Given the description of an element on the screen output the (x, y) to click on. 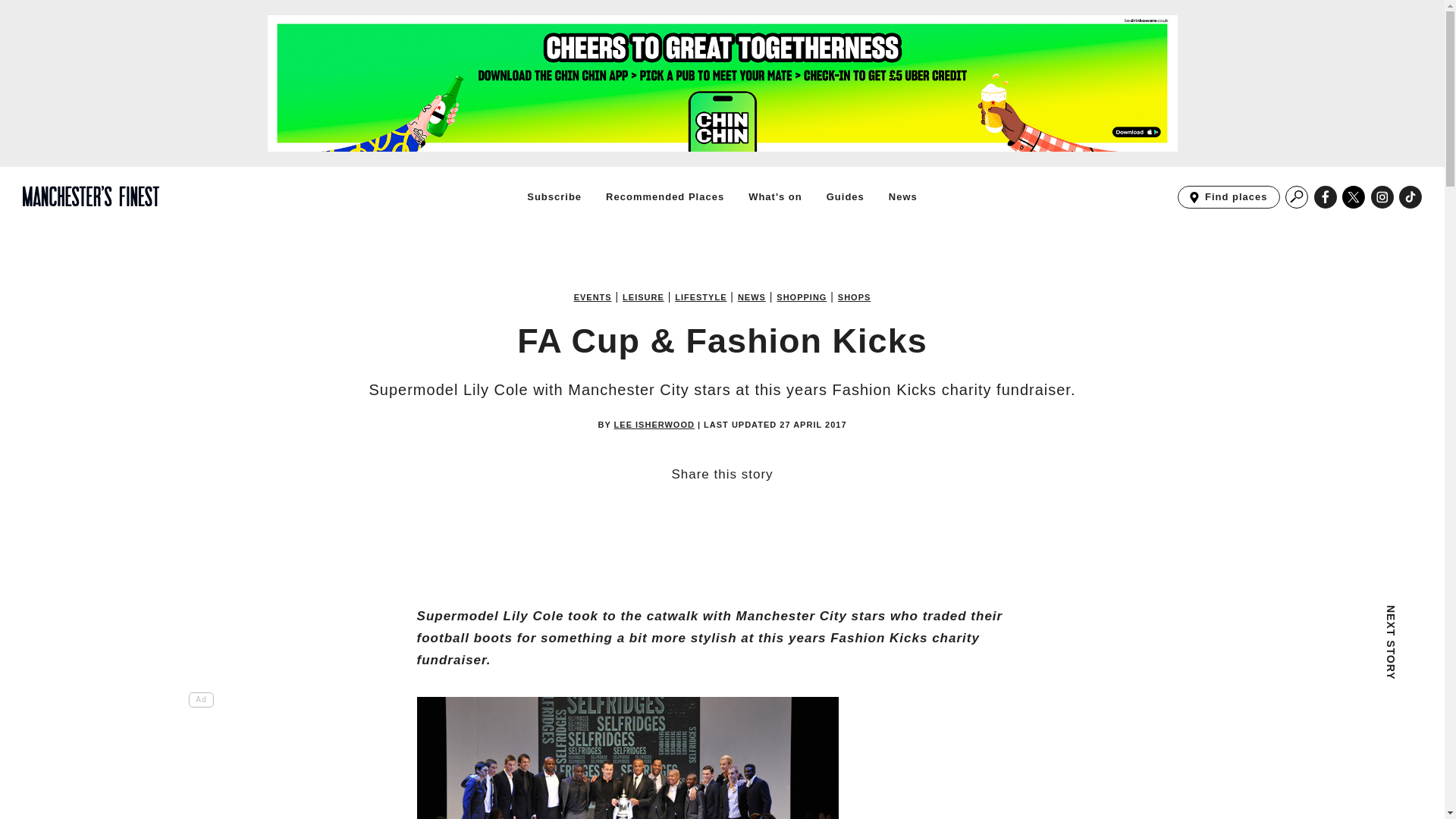
Recommended Places (664, 196)
Go to Manchester's Finest Facebook page (1325, 196)
LIFESTYLE (700, 297)
Go to Manchester's Finest Instagram profile (1228, 196)
SHOPS (1382, 196)
News (854, 297)
SHOPPING (902, 196)
Go to Manchester's Finest X profile (801, 297)
Go to Manchester's Finest TikTok profile (1353, 196)
What's on (1410, 196)
Go to Manchester's Finest X profile (775, 196)
Subscribe (1353, 196)
LEE ISHERWOOD (553, 196)
Go to Manchester's Finest Instagram profile (654, 423)
